Given the description of an element on the screen output the (x, y) to click on. 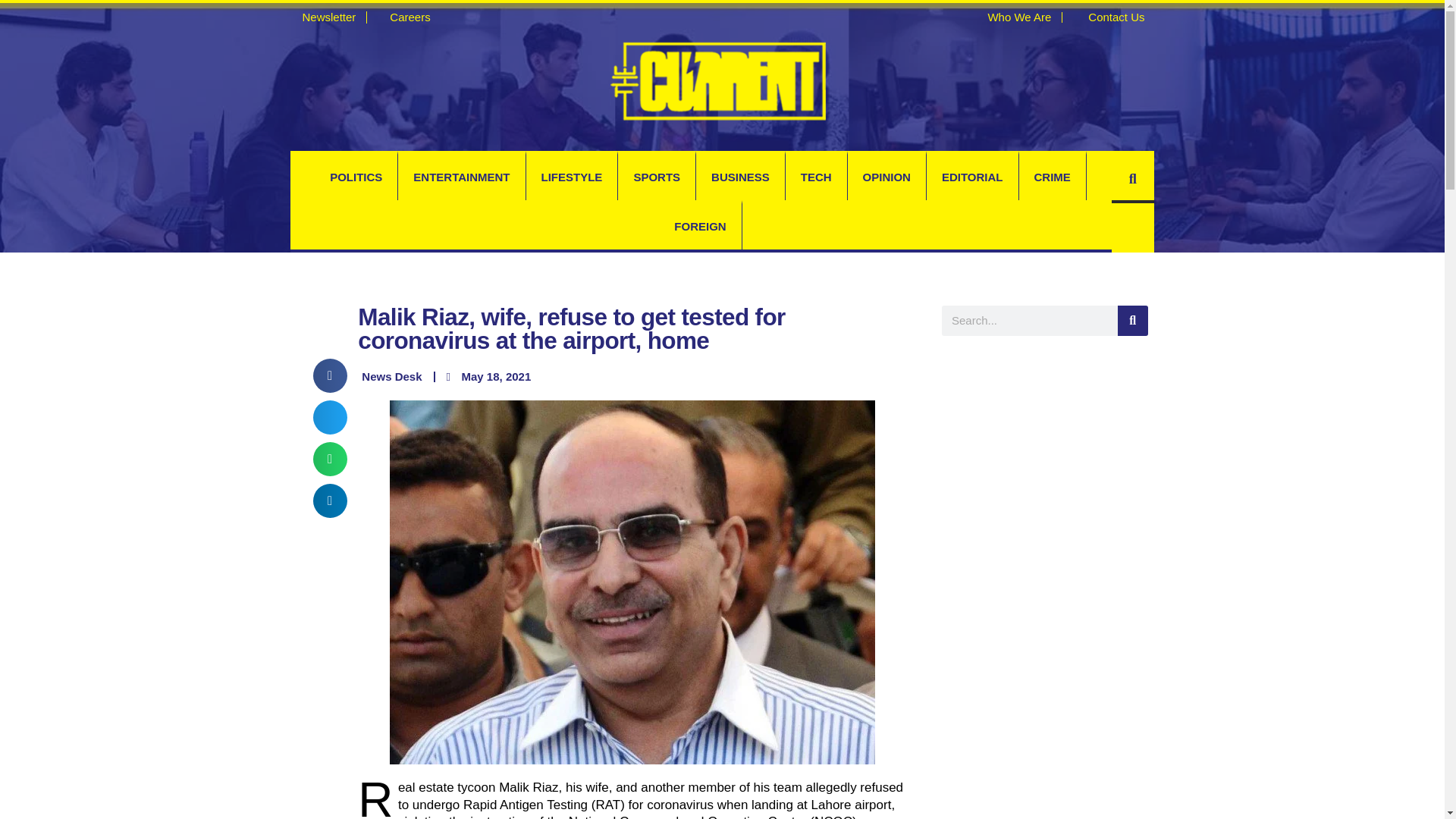
Careers (403, 17)
ENTERTAINMENT (460, 176)
EDITORIAL (971, 176)
LIFESTYLE (571, 176)
OPINION (886, 176)
TECH (816, 176)
Who We Are (1011, 17)
SPORTS (656, 176)
CRIME (1052, 176)
BUSINESS (739, 176)
Contact Us (1108, 17)
POLITICS (355, 176)
FOREIGN (700, 226)
Newsletter (322, 17)
